Given the description of an element on the screen output the (x, y) to click on. 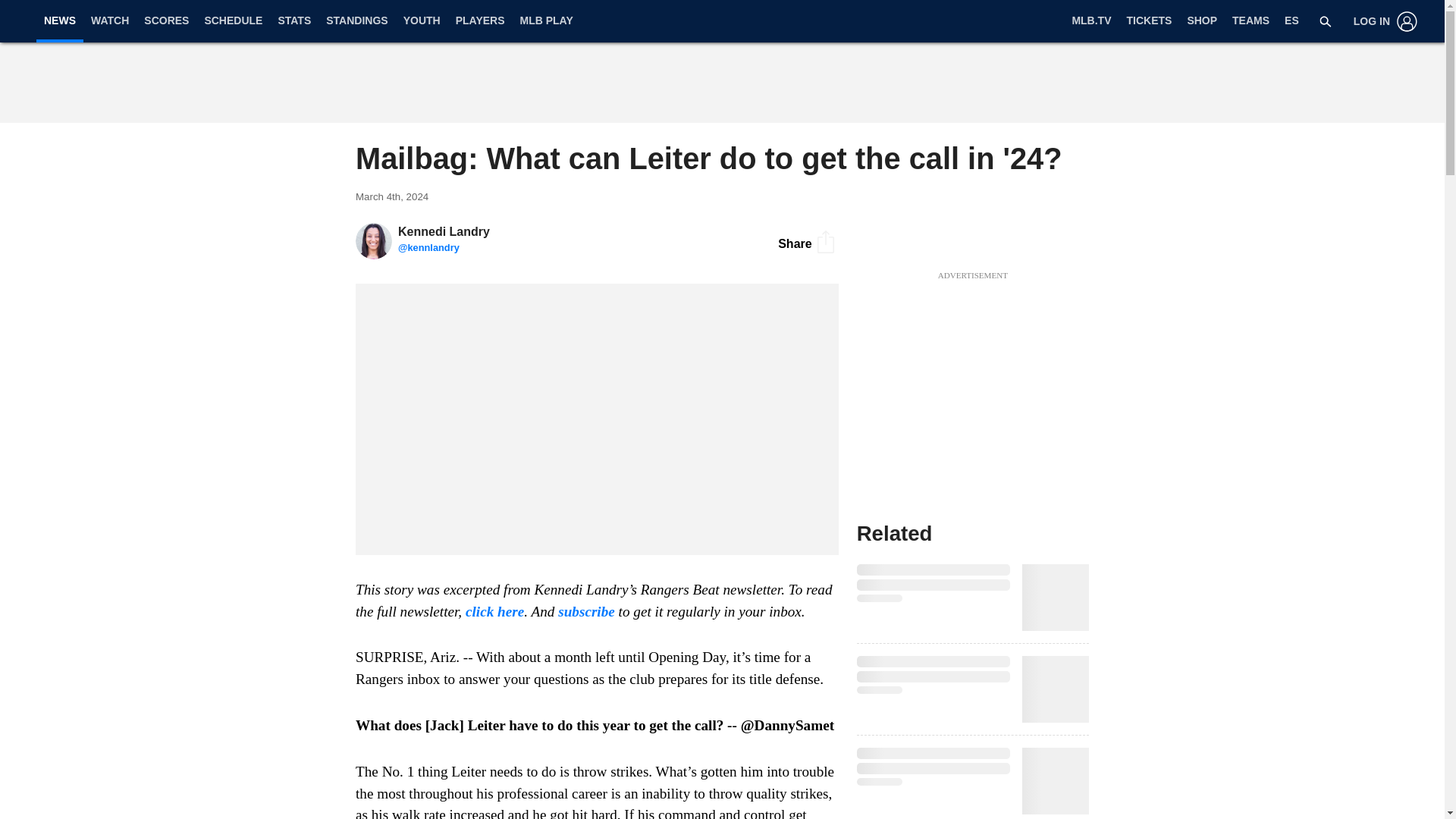
SCHEDULE (232, 21)
STANDINGS (356, 21)
share-square-2 (825, 241)
SCORES (166, 21)
WATCH (109, 21)
NEWS (59, 19)
STATS (293, 21)
YOUTH (422, 21)
search-1 (1325, 21)
